Given the description of an element on the screen output the (x, y) to click on. 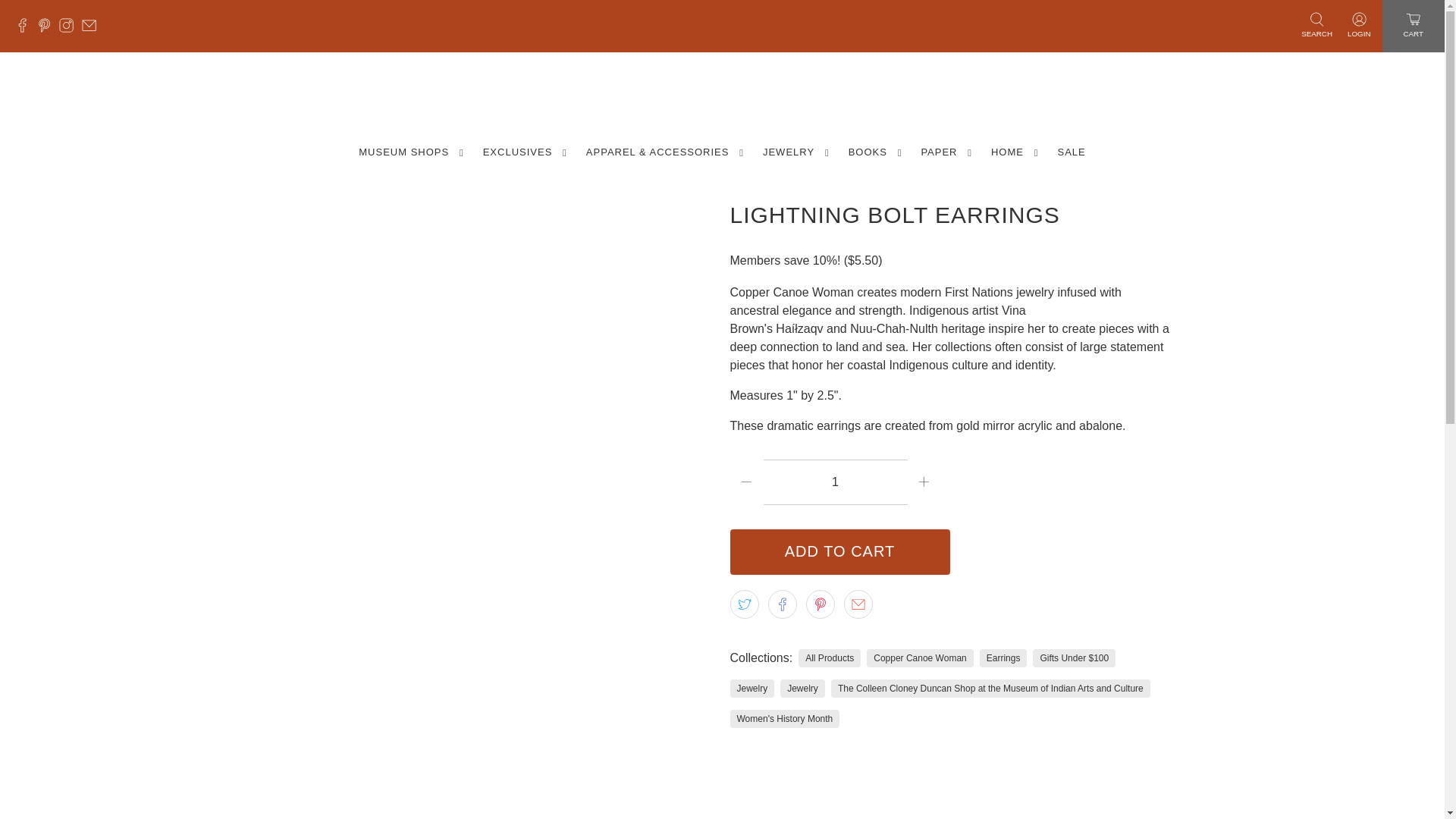
BOOKS (876, 151)
Museum of New Mexico Foundation Shops on Facebook (25, 28)
Jewelry (752, 688)
Email this to a friend (857, 604)
Museum of New Mexico Foundation Shops on Instagram (70, 28)
Share this on Twitter (743, 604)
Museum of New Mexico Foundation Shops on Pinterest (48, 28)
Jewelry (802, 688)
Earrings (1003, 658)
Women's History Month (784, 718)
